Given the description of an element on the screen output the (x, y) to click on. 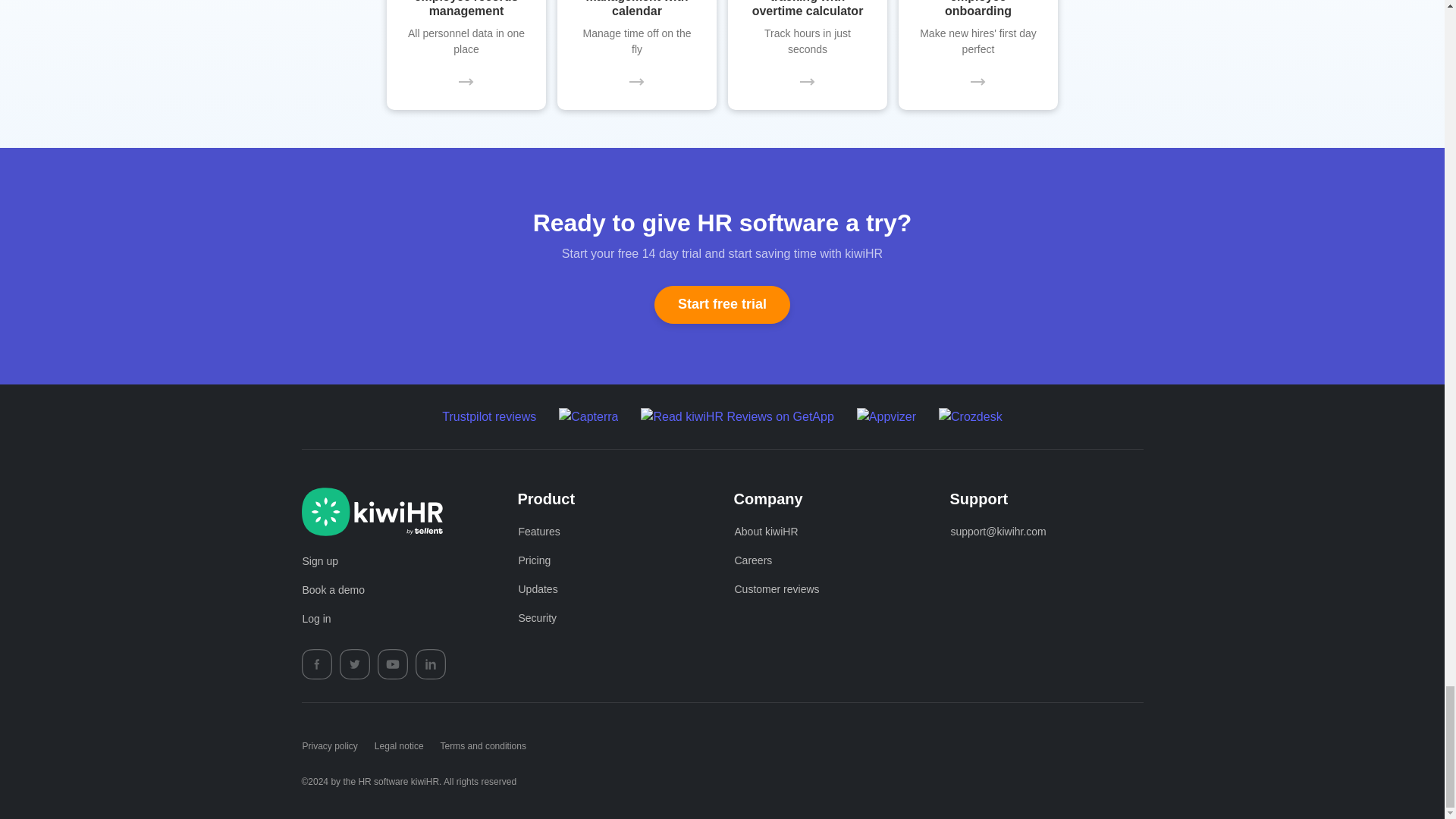
Sign in (316, 619)
Security and privacy (536, 618)
hr-software-kiwihr-en-inversed (379, 511)
